Given the description of an element on the screen output the (x, y) to click on. 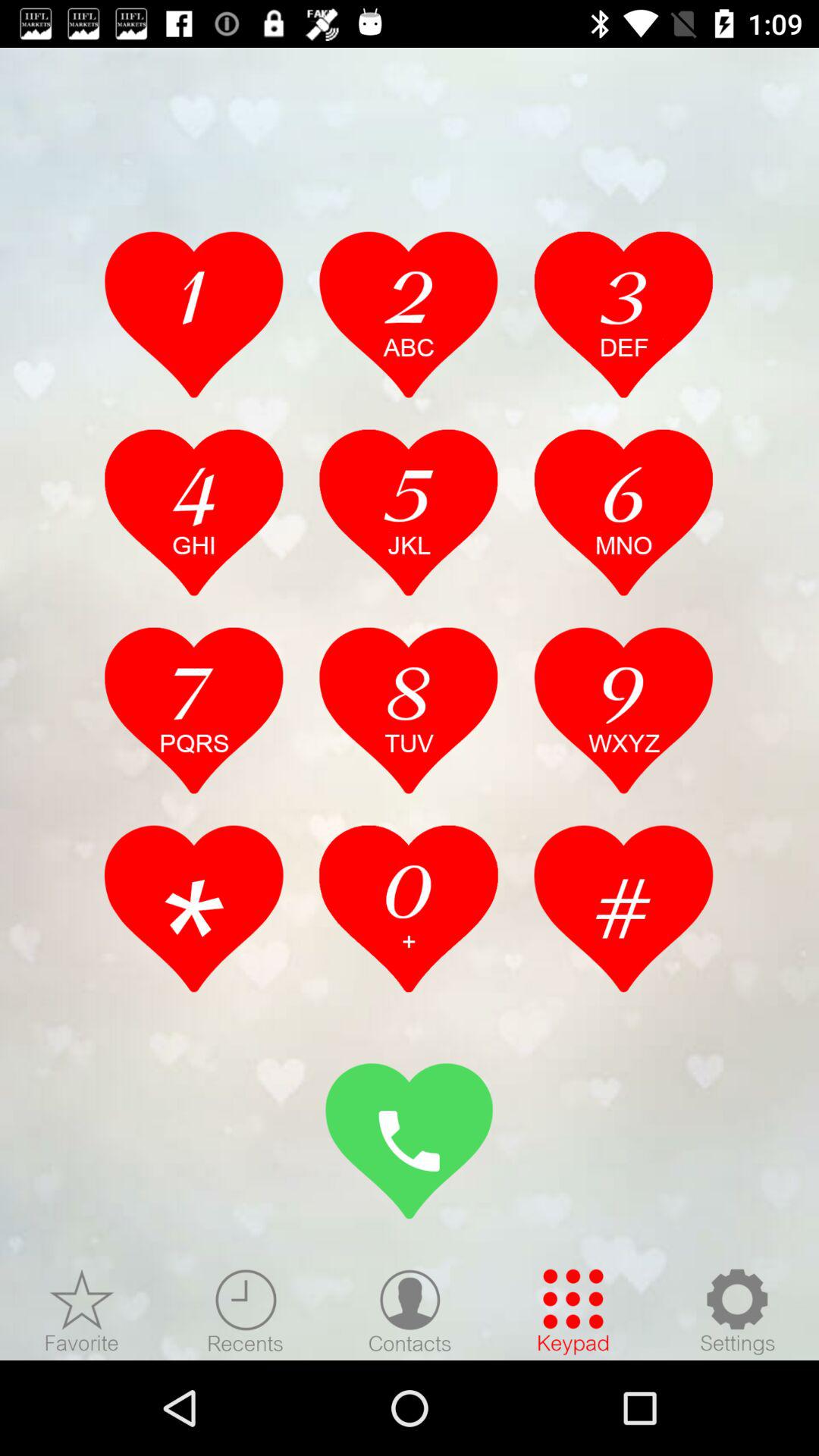
go to recent calls (245, 1311)
